Given the description of an element on the screen output the (x, y) to click on. 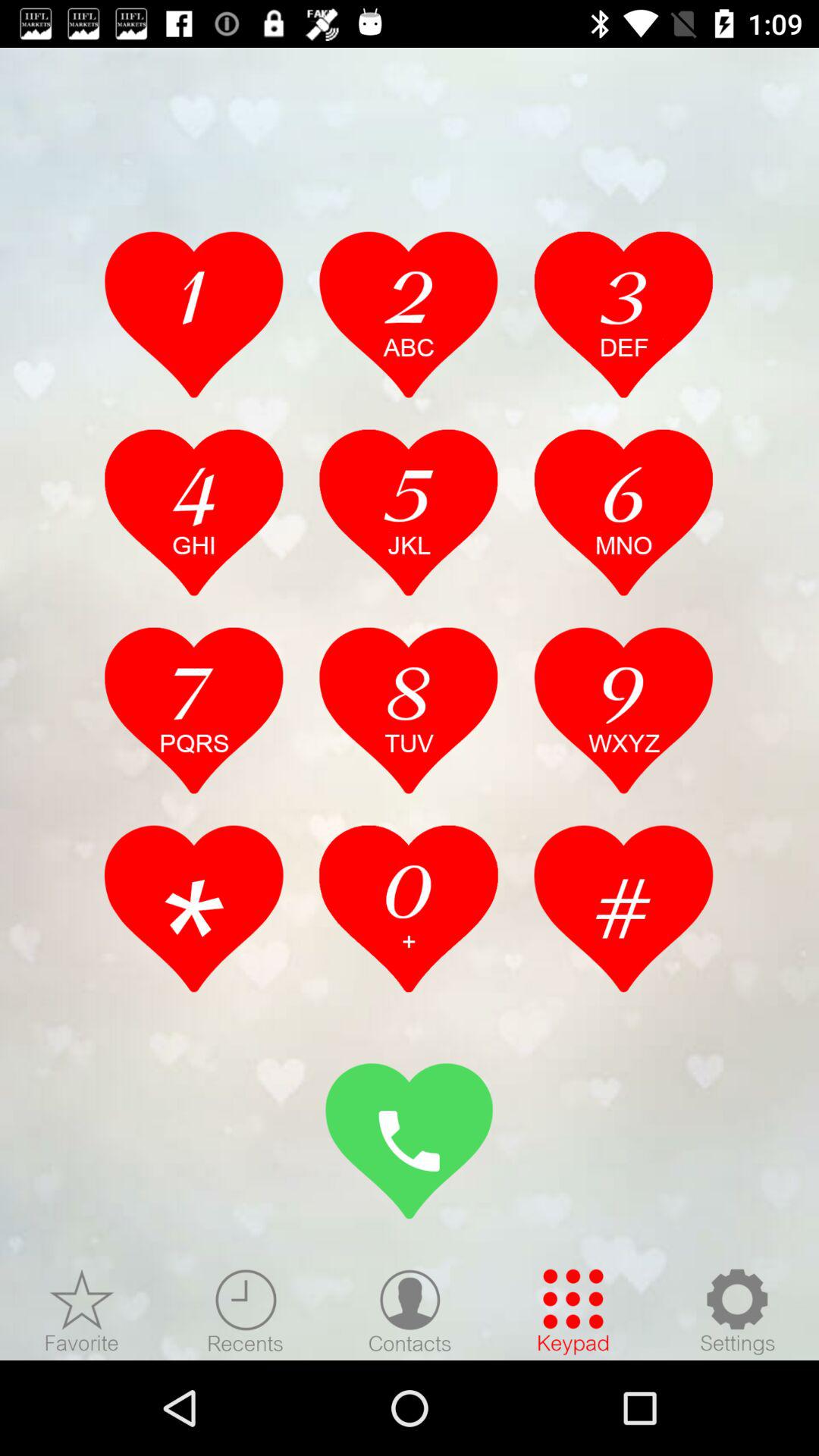
go to recent calls (245, 1311)
